Given the description of an element on the screen output the (x, y) to click on. 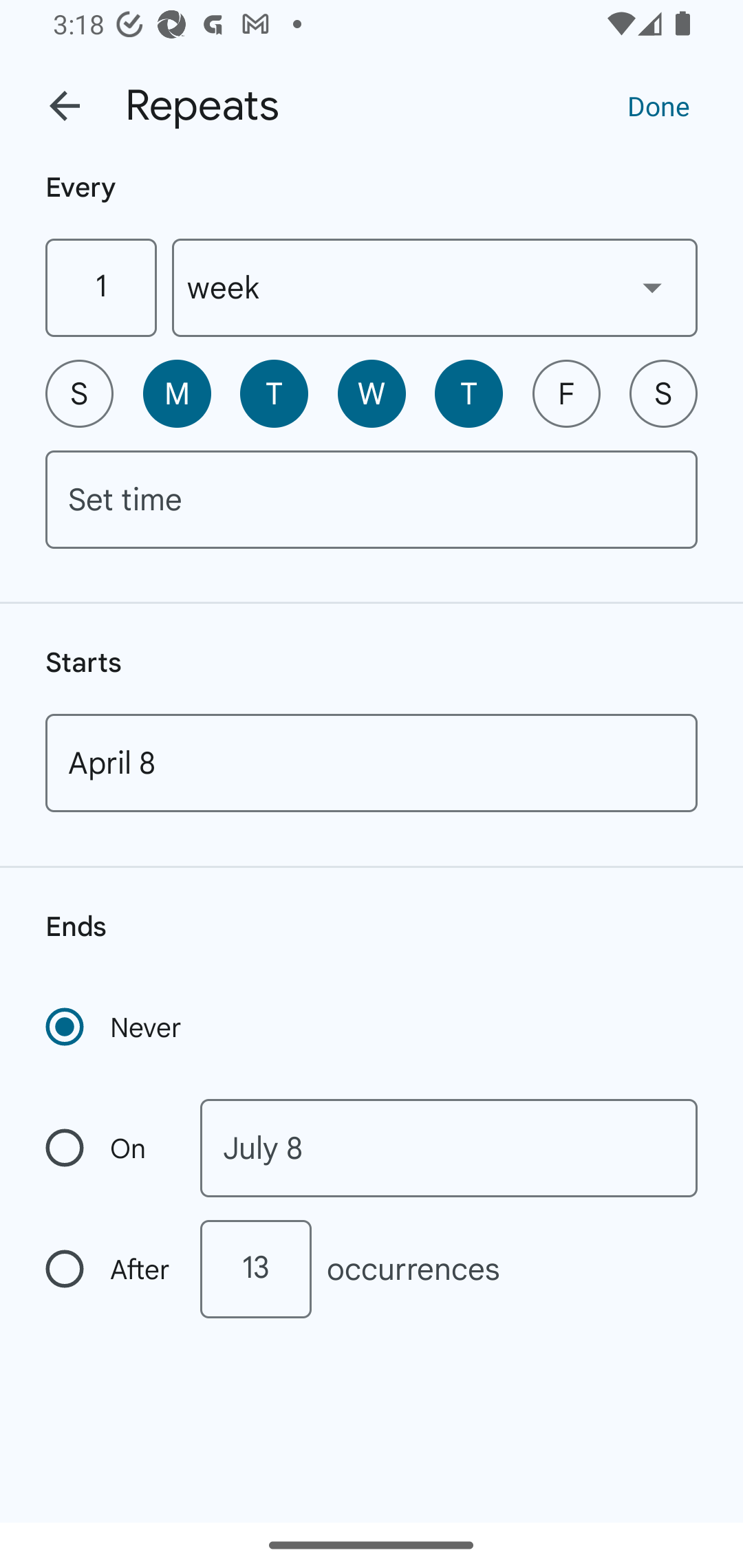
Back (64, 105)
Done (658, 105)
1 (100, 287)
week (434, 287)
Show dropdown menu (652, 286)
S Sunday (79, 393)
M Monday, selected (177, 393)
T Tuesday, selected (273, 393)
W Wednesday, selected (371, 393)
T Thursday, selected (468, 393)
F Friday (566, 393)
S Saturday (663, 393)
Set time (371, 499)
April 8 (371, 762)
Never Recurrence never ends (115, 1026)
July 8 (448, 1148)
On Recurrence ends on a specific date (109, 1148)
13 (255, 1268)
